Given the description of an element on the screen output the (x, y) to click on. 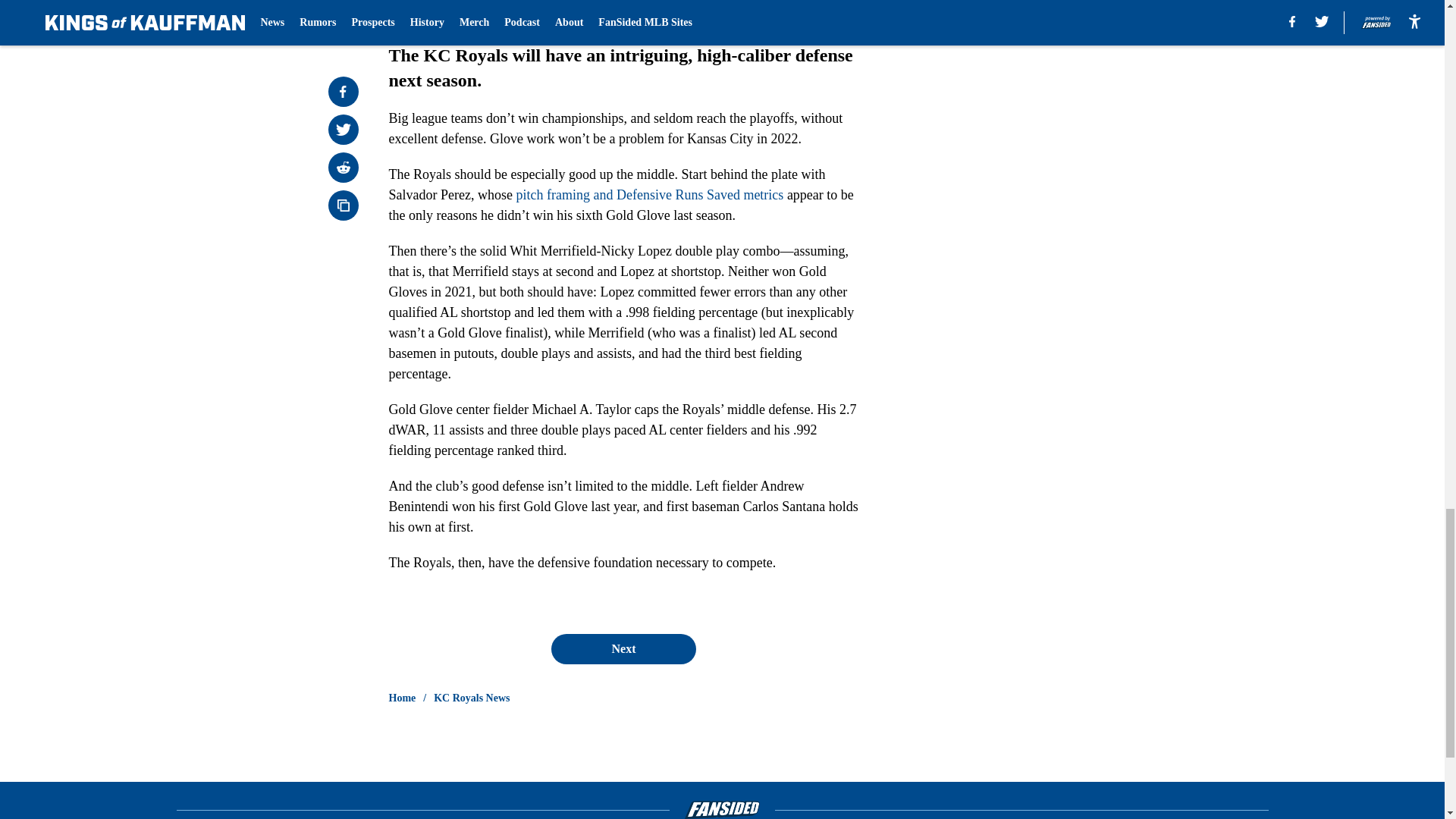
Home (401, 698)
pitch framing and Defensive Runs Saved metrics (649, 194)
Next (622, 648)
KC Royals News (471, 698)
